Given the description of an element on the screen output the (x, y) to click on. 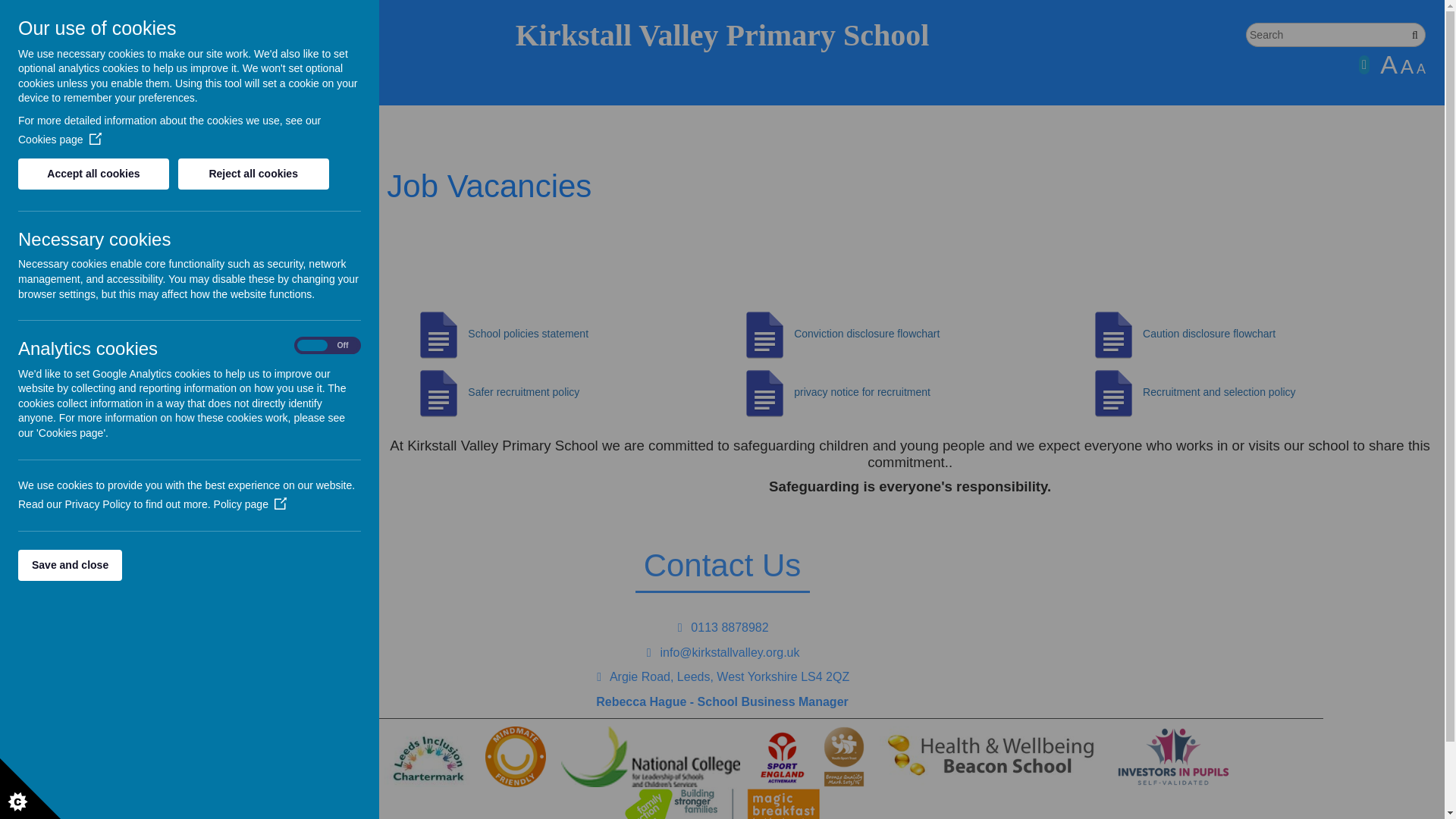
Caution disclosure flowchart (1179, 333)
Contact Us (216, 241)
Conviction disclosure flowchart (837, 333)
Job Vacancies (216, 291)
privacy notice for recruitment (832, 391)
School policies statement (498, 333)
Recruitment and selection policy (1218, 391)
on (327, 345)
Cookie Control Icon (30, 788)
This is KVPS (216, 190)
Safer recruitment policy (494, 391)
